Given the description of an element on the screen output the (x, y) to click on. 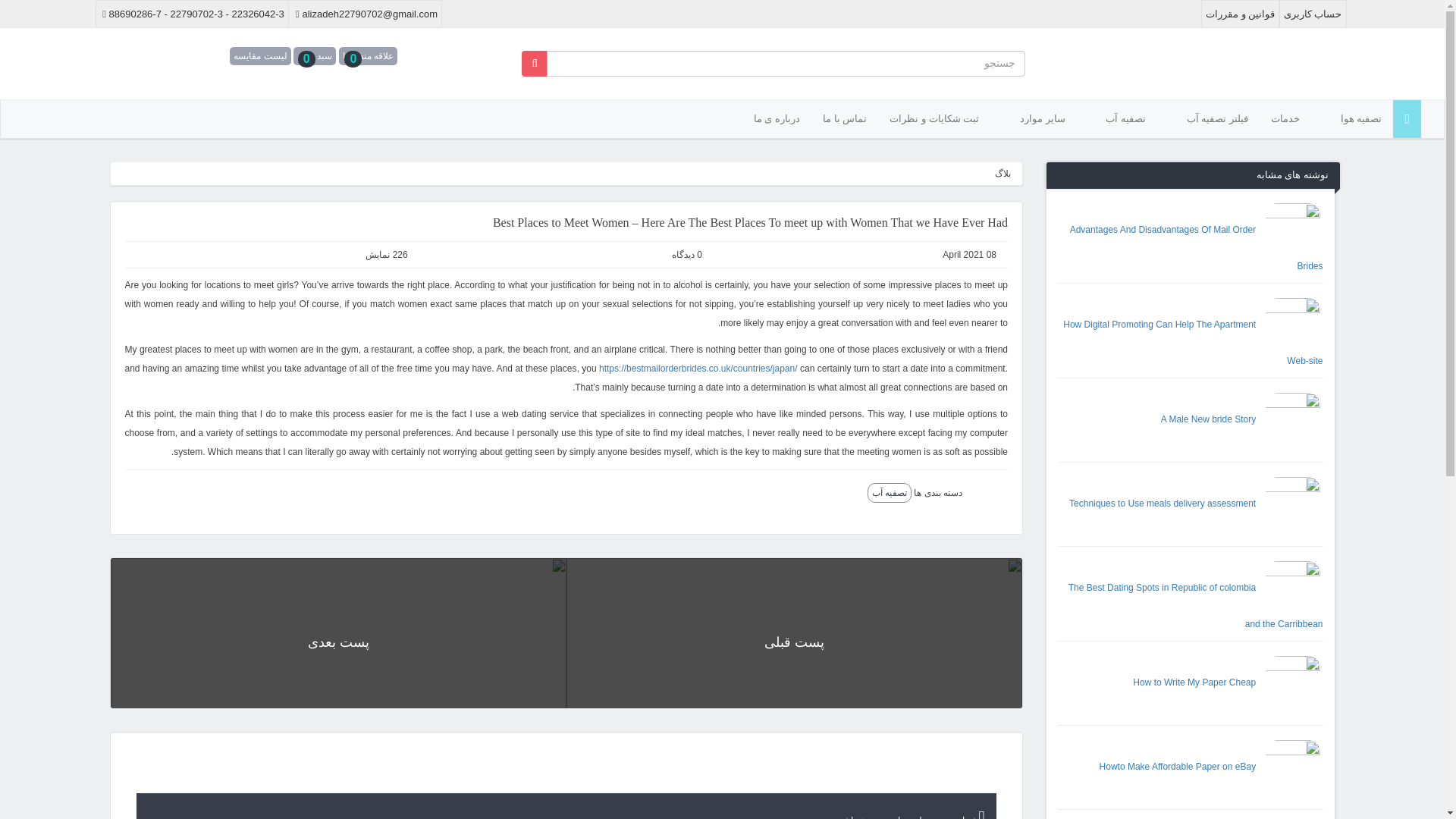
A Male New bride Story (1241, 419)
How Digital Promoting Can Help The Apartment Web-site (1192, 342)
Techniques to Use meals delivery assessment (1195, 502)
Advantages And Disadvantages Of Mail Order Brides (1196, 247)
22326042-3 - 22790702-3 - 88690286-7   (191, 13)
